Given the description of an element on the screen output the (x, y) to click on. 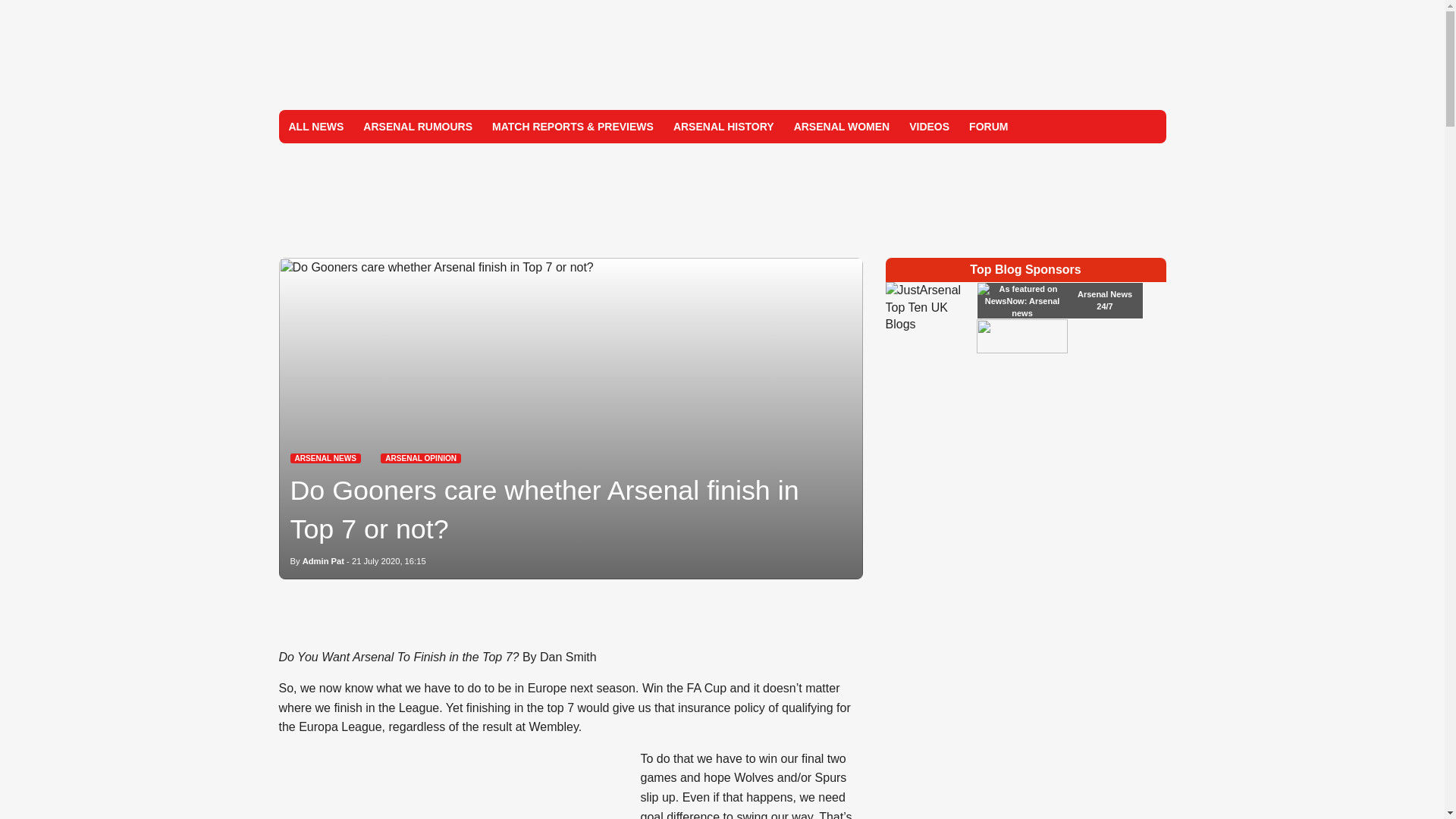
Latest Arsenal News News (325, 458)
Latest Arsenal opinion News (420, 458)
ARSENAL NEWS (325, 458)
21 July 2020, 16:15 (389, 560)
VIDEOS (929, 126)
FORUM (988, 126)
ARSENAL HISTORY (723, 126)
ALL NEWS (316, 126)
Search (1147, 126)
ARSENAL RUMOURS (417, 126)
ARSENAL WOMEN (841, 126)
Admin Pat (322, 560)
ARSENAL OPINION (420, 458)
